Given the description of an element on the screen output the (x, y) to click on. 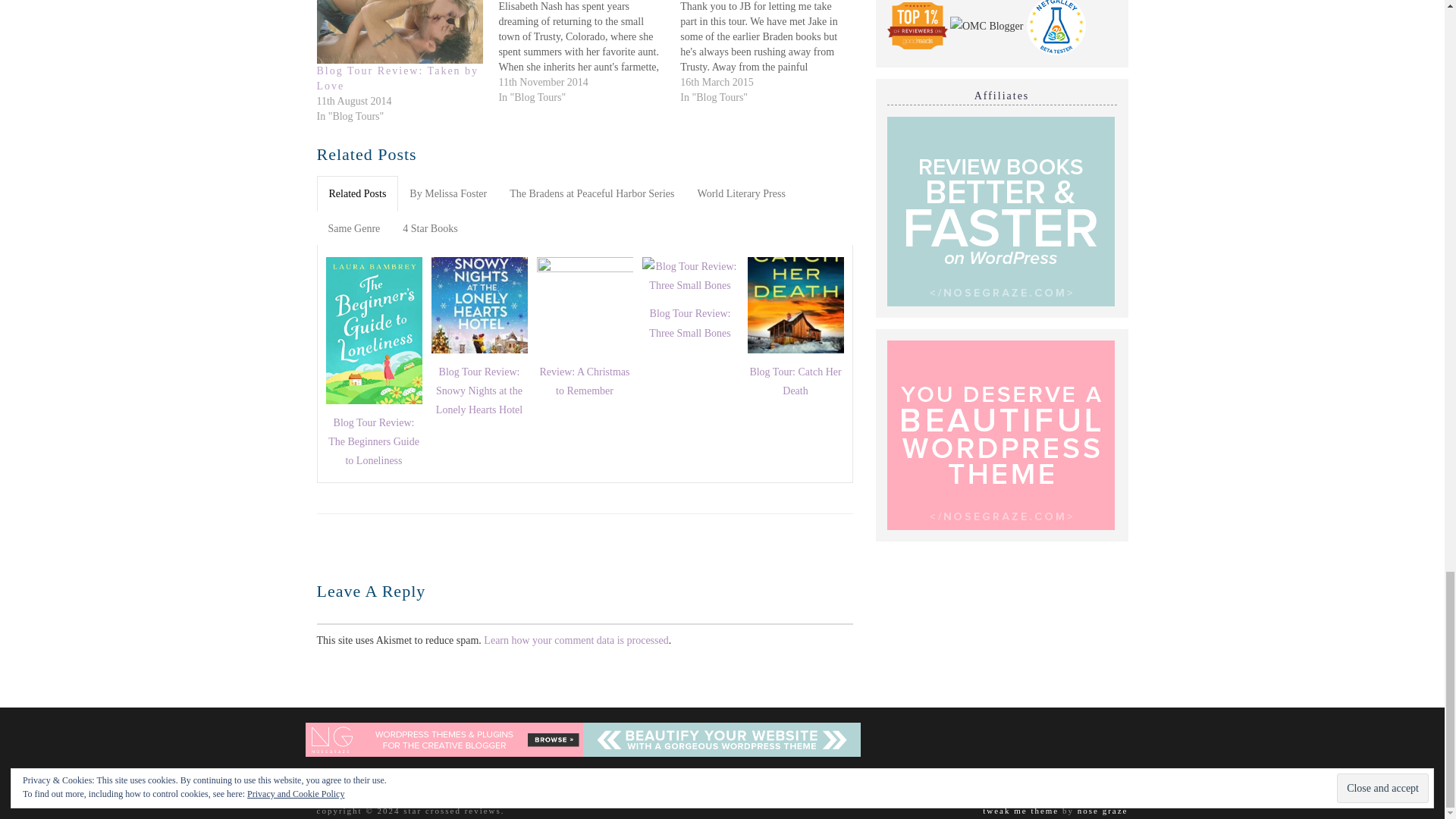
Blog Tour Review: Taken by Love (400, 32)
Blog Tour Review: Taken by Love (398, 78)
Blog Tour Review: Flirting With Love (588, 52)
Blog Tour Review: Crashing into Love (770, 52)
